Given the description of an element on the screen output the (x, y) to click on. 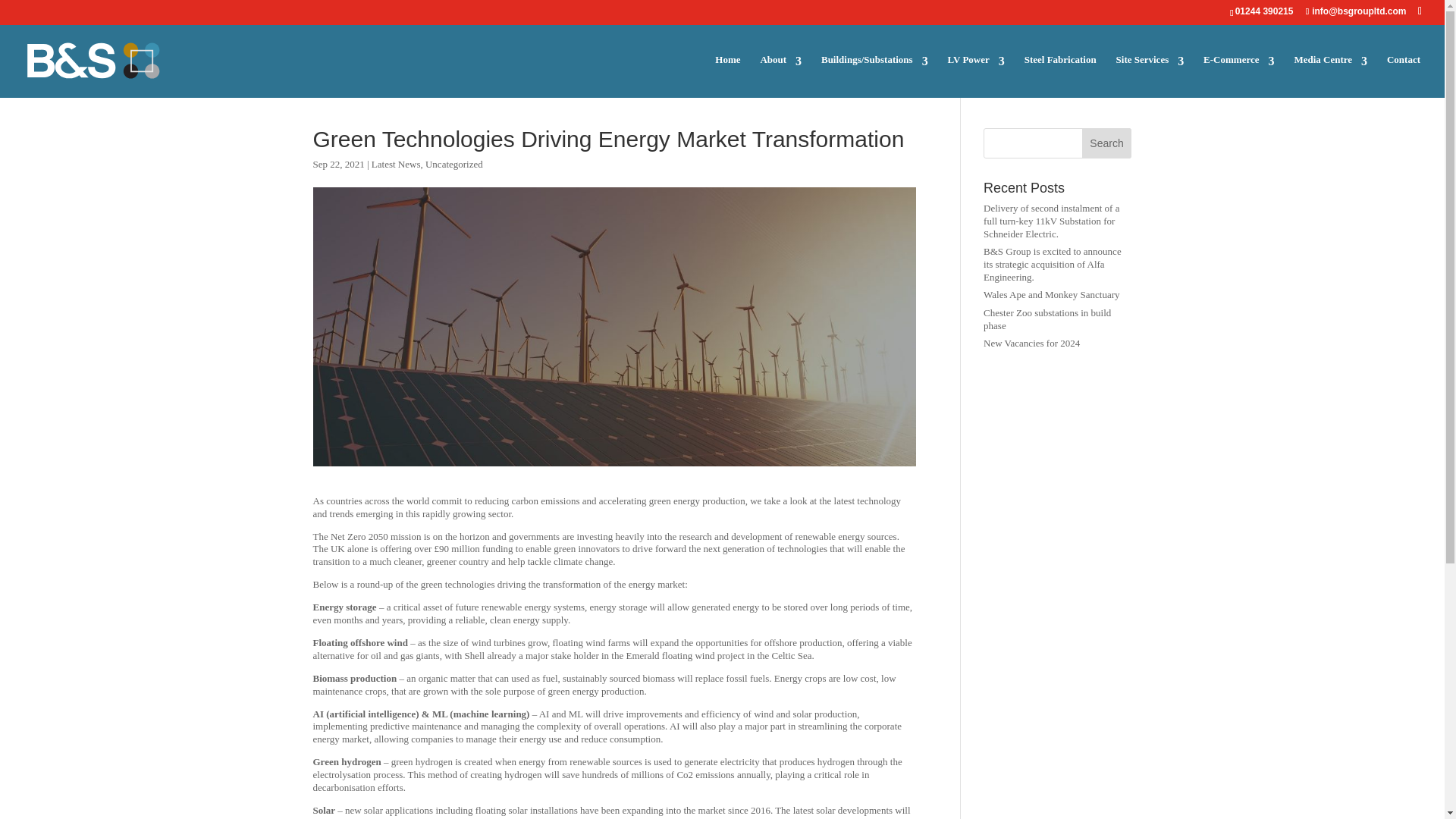
Site Services (1150, 75)
About (781, 75)
Steel Fabrication (1060, 75)
Latest News (395, 163)
Media Centre (1330, 75)
Uncategorized (454, 163)
LV Power (975, 75)
Wales Ape and Monkey Sanctuary (1051, 294)
Search (1106, 142)
E-Commerce (1239, 75)
Search (1106, 142)
